Given the description of an element on the screen output the (x, y) to click on. 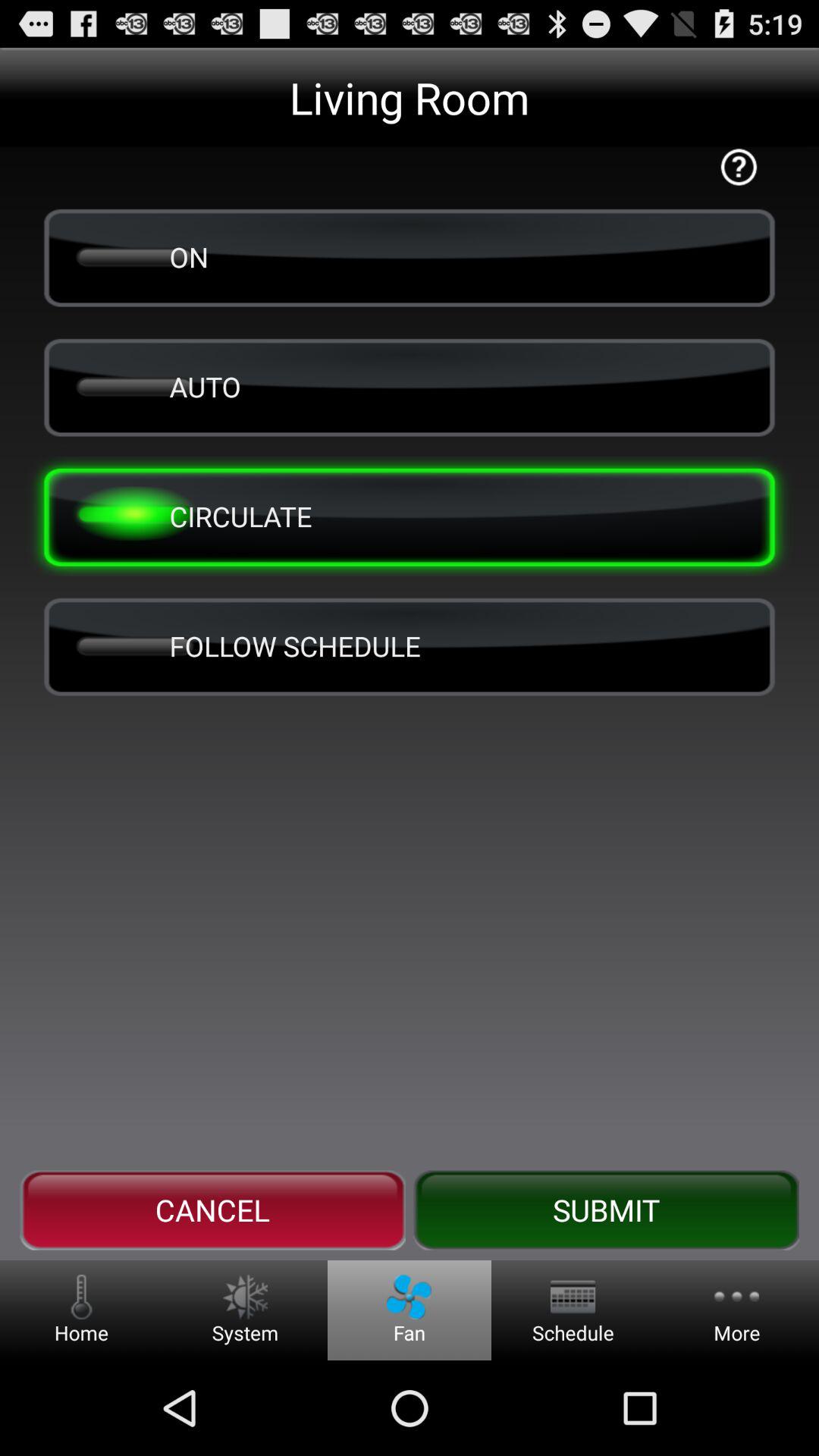
swipe until auto icon (409, 386)
